Given the description of an element on the screen output the (x, y) to click on. 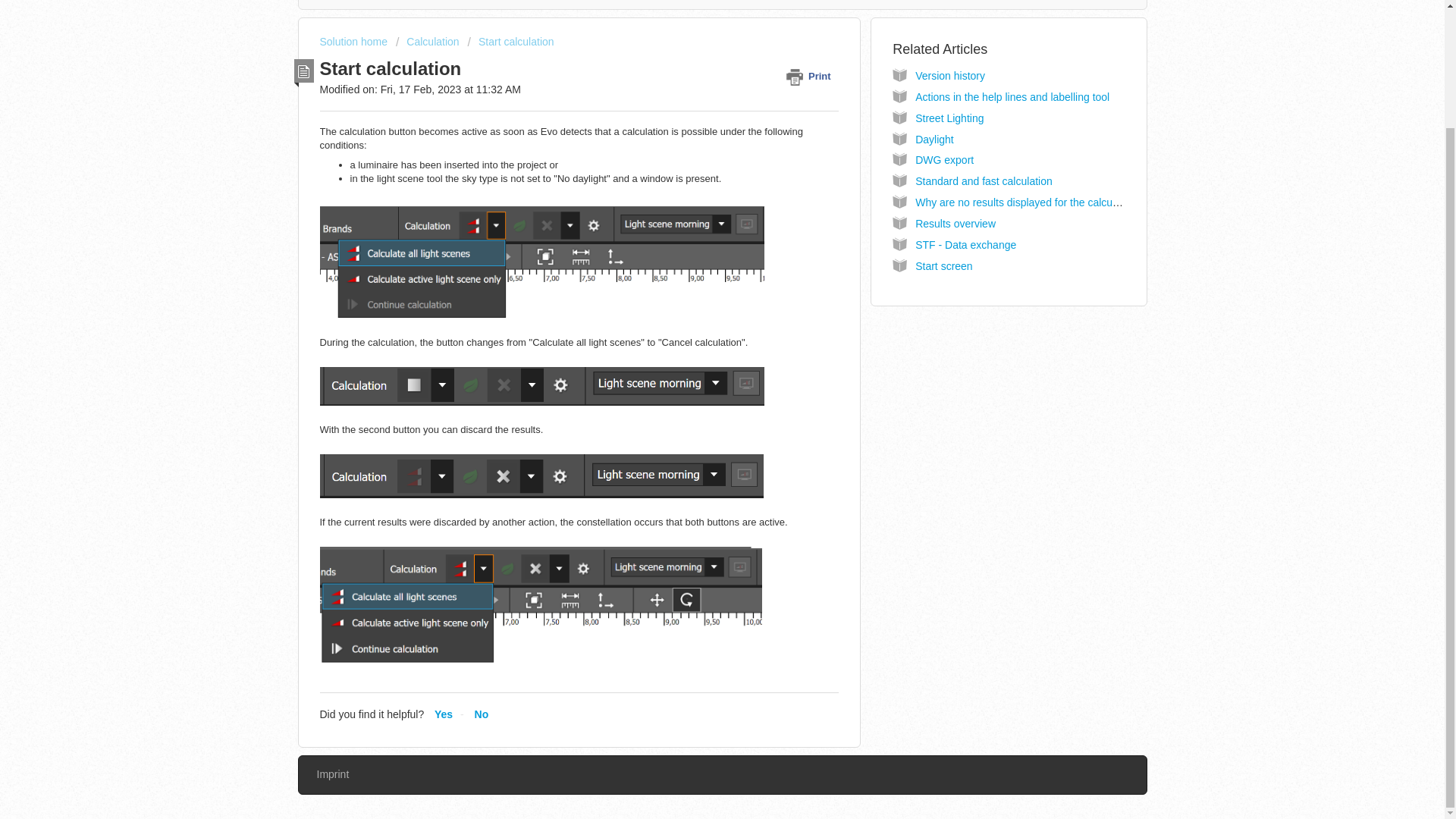
Start calculation (510, 41)
Calculation (428, 41)
Why are no results displayed for the calculation surface? (1047, 202)
Print this Article (812, 76)
Street Lighting (949, 118)
Start screen (943, 265)
STF - Data exchange (965, 244)
Results overview (955, 223)
DWG export (944, 159)
Daylight (934, 139)
